Given the description of an element on the screen output the (x, y) to click on. 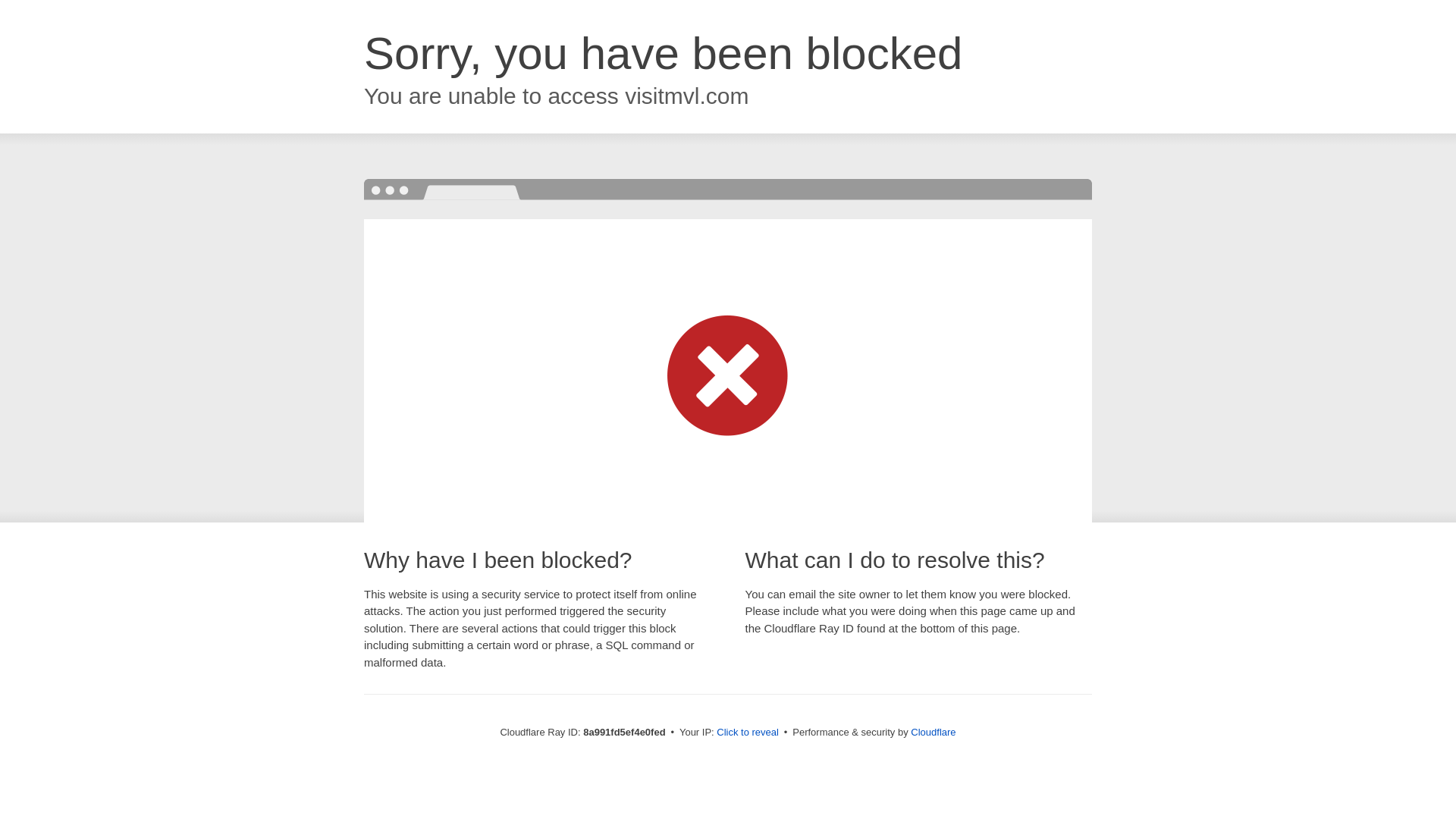
Click to reveal (747, 732)
Cloudflare (933, 731)
